Given the description of an element on the screen output the (x, y) to click on. 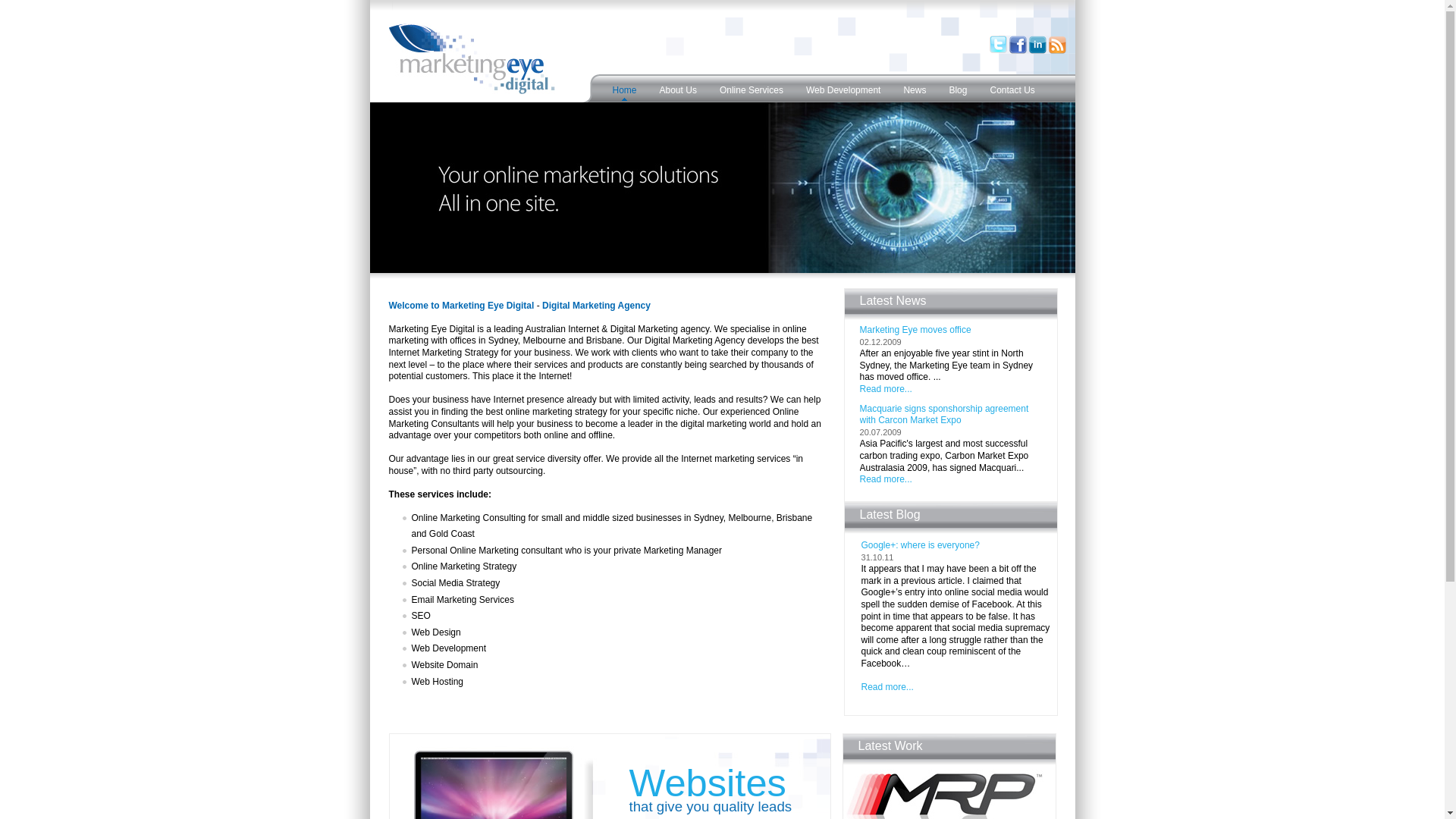
Online Marketing Agency Sydney Element type: hover (722, 187)
News Element type: text (914, 87)
Read more... Element type: text (885, 388)
Blog Element type: text (957, 87)
Read more... Element type: text (885, 478)
Web Development Element type: text (843, 87)
Marketing Eye moves office Element type: text (915, 329)
About Us Element type: text (678, 87)
Subscribe to RSS Feed Element type: hover (1057, 51)
Home Element type: text (623, 87)
LinkedIn Element type: hover (1037, 51)
Online Services Element type: text (751, 87)
Google+: where is everyone? Element type: text (920, 544)
Read more... Element type: text (887, 686)
Follow us on Twitter Element type: hover (997, 51)
Contact Us Element type: text (1011, 87)
Find us on Facebook Element type: hover (1017, 51)
Marketing Eye Digital Element type: hover (471, 58)
